Given the description of an element on the screen output the (x, y) to click on. 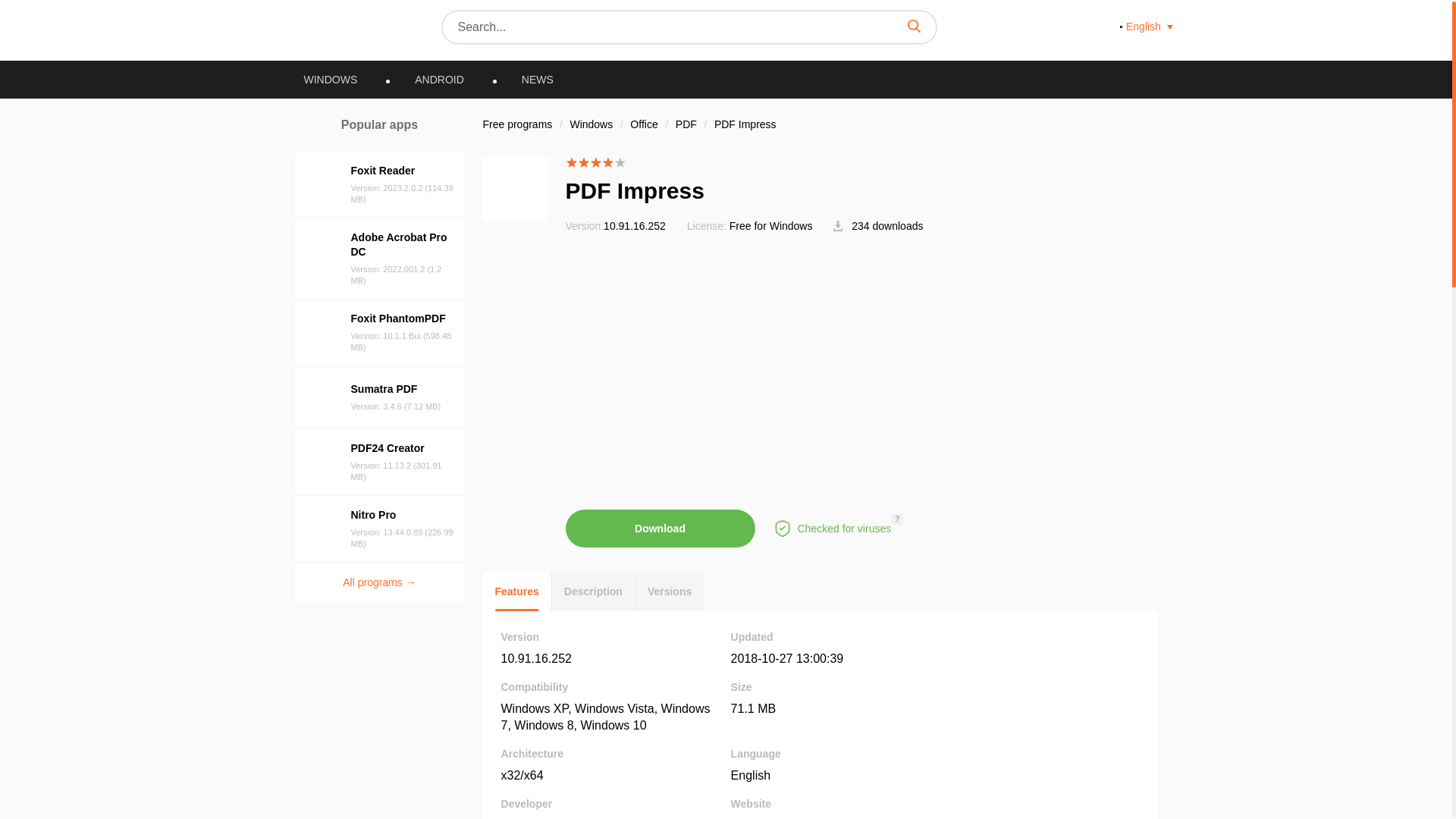
Updated (787, 658)
Free programs (516, 123)
Windows (592, 123)
PDF (687, 123)
WINDOWS (330, 79)
Download (660, 528)
PDF Impress (745, 123)
ANDROID (438, 79)
Version:10.91.16.252 (615, 225)
10.91.16.252 (535, 658)
